Given the description of an element on the screen output the (x, y) to click on. 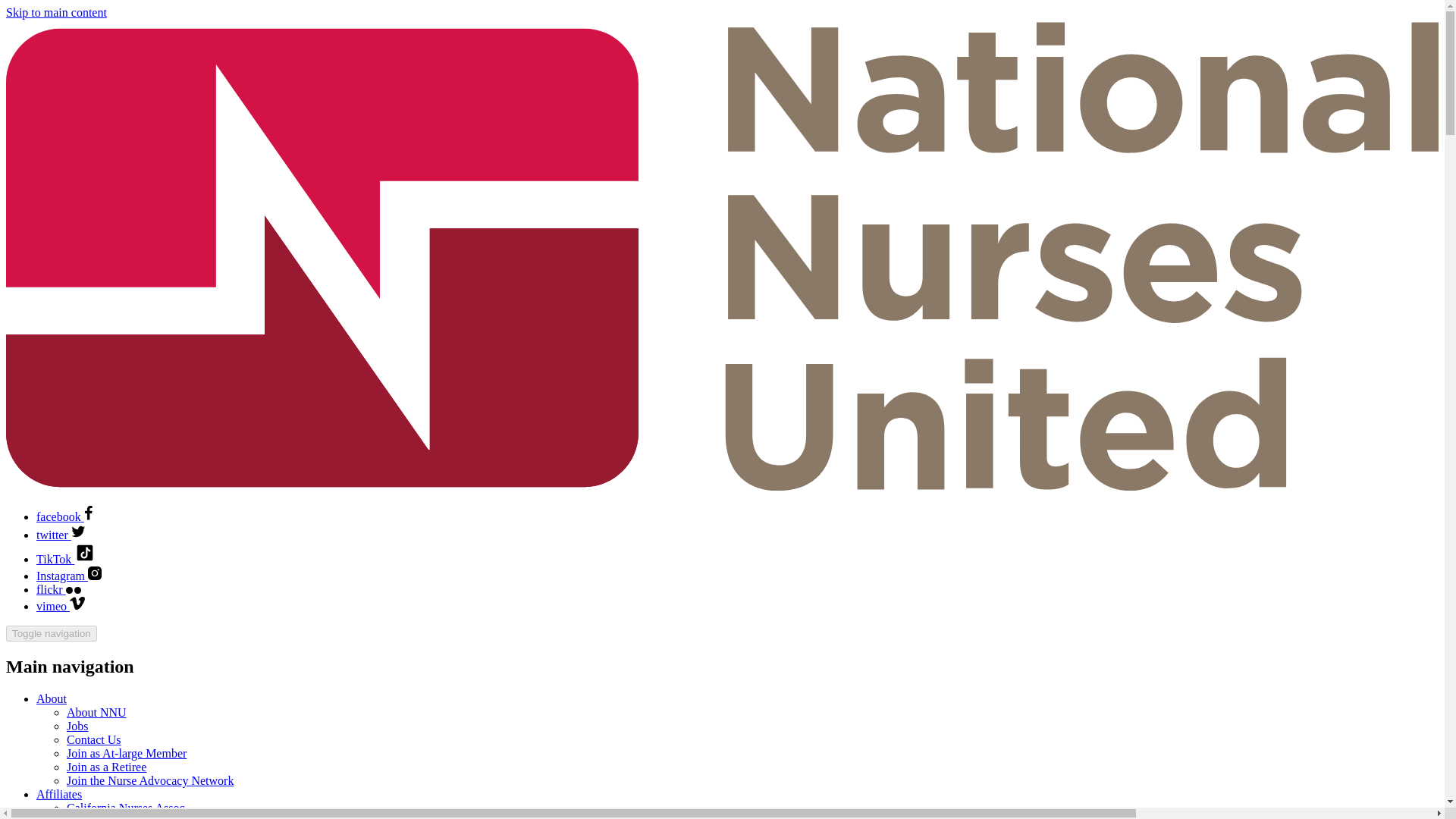
Instagram  (68, 575)
Toggle navigation (51, 633)
California Nurses Assoc. (126, 807)
NNU Facebook (64, 516)
CNA Homepage (137, 816)
facebook  (64, 516)
vimeo  (60, 605)
flickr  (58, 589)
NNU Twitter (60, 534)
About (51, 698)
